Given the description of an element on the screen output the (x, y) to click on. 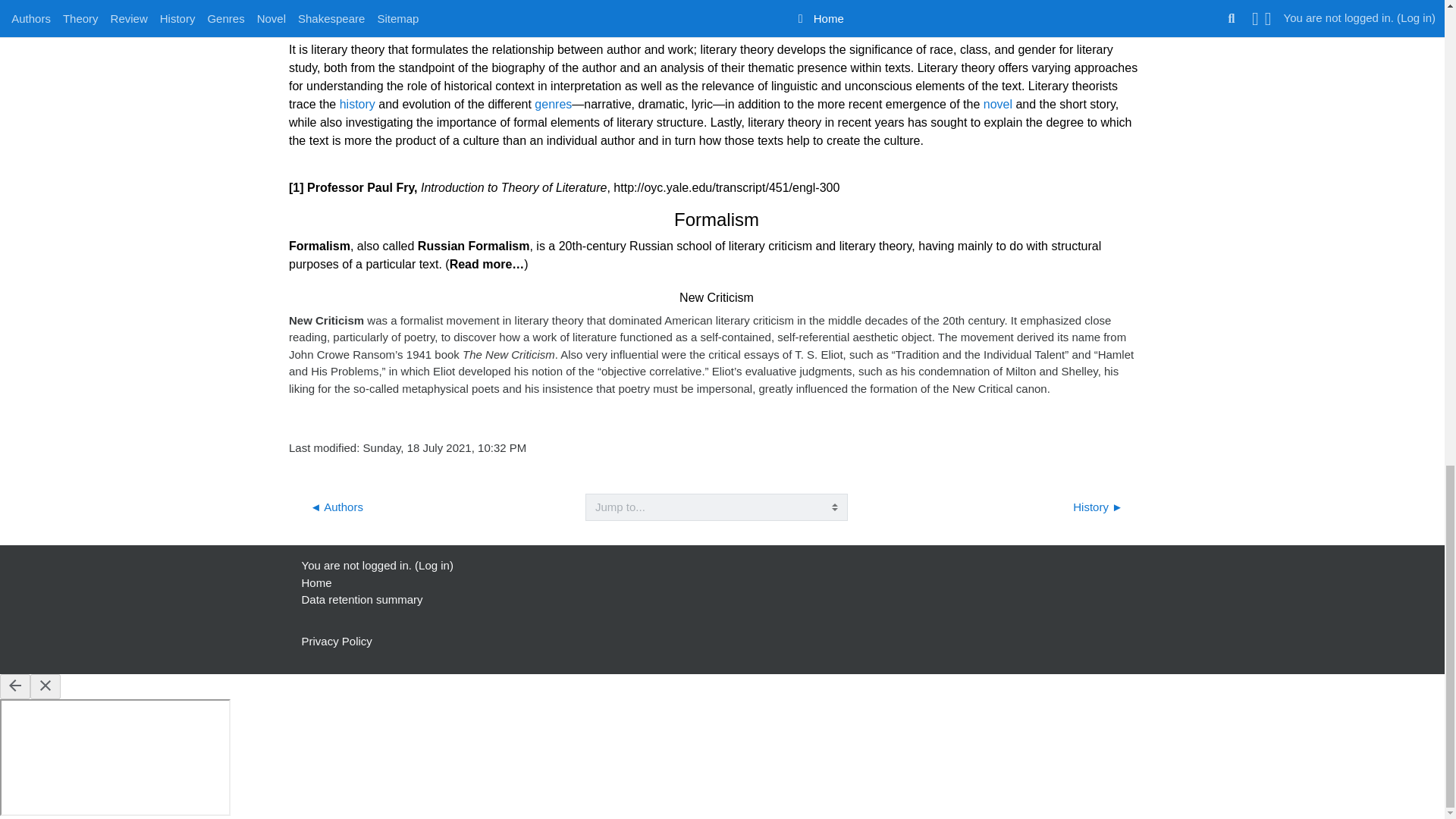
Formalism (486, 264)
History (357, 103)
Novel (997, 103)
Genres (553, 103)
